Given the description of an element on the screen output the (x, y) to click on. 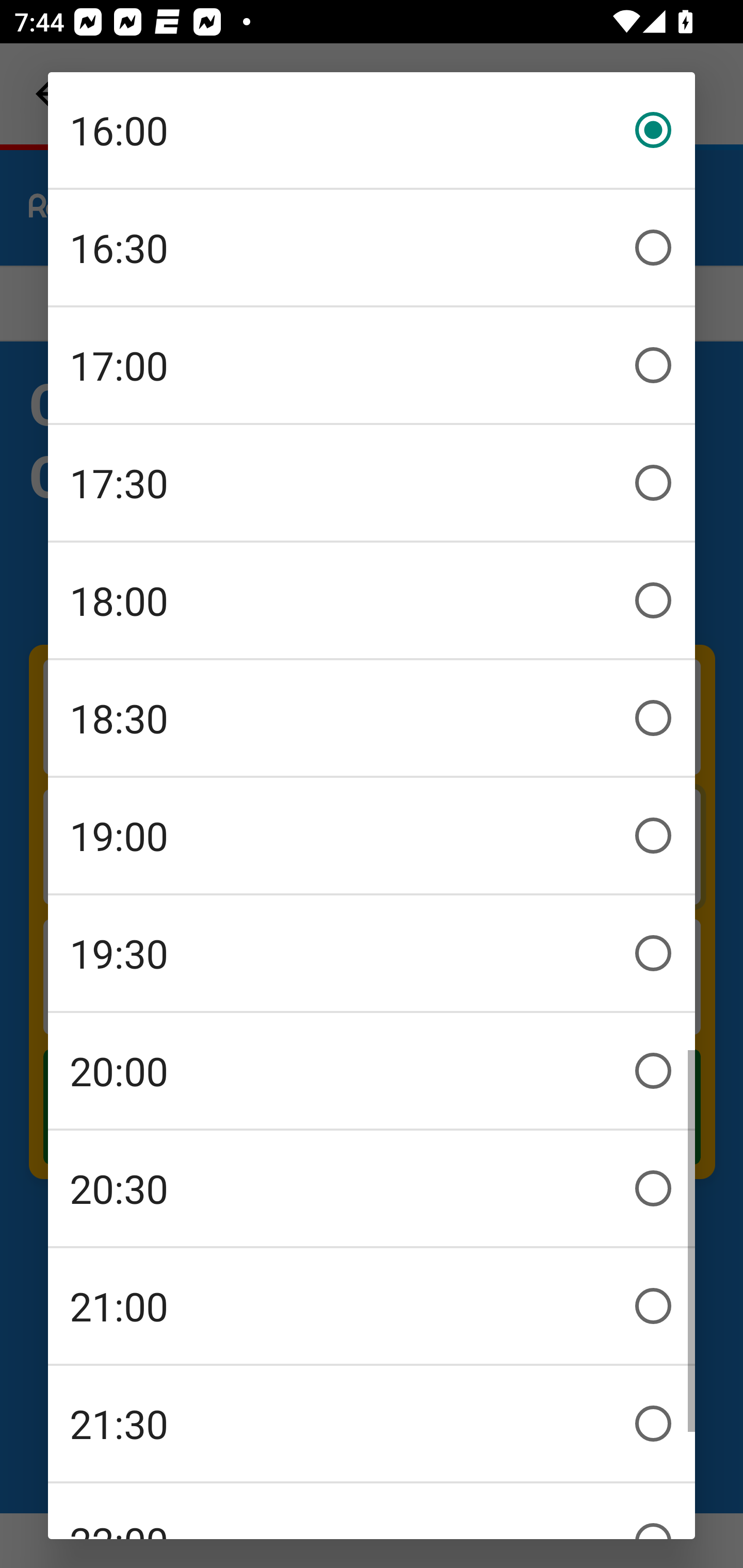
16:00 (371, 130)
16:30 (371, 247)
17:00 (371, 365)
17:30 (371, 482)
18:00 (371, 600)
18:30 (371, 718)
19:00 (371, 835)
19:30 (371, 953)
20:00 (371, 1070)
20:30 (371, 1188)
21:00 (371, 1306)
21:30 (371, 1423)
